Given the description of an element on the screen output the (x, y) to click on. 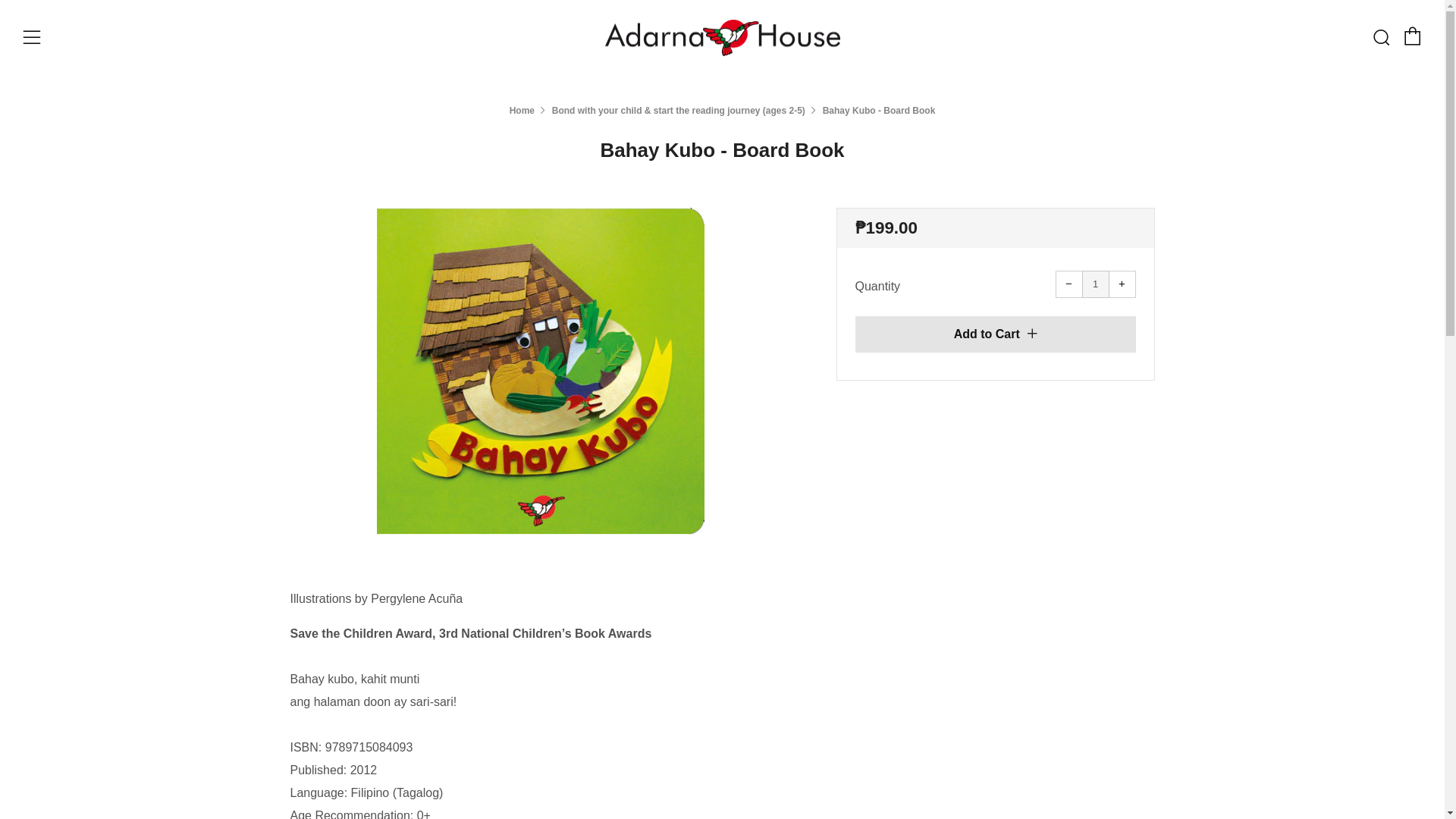
1 (1094, 284)
Home (521, 110)
